Given the description of an element on the screen output the (x, y) to click on. 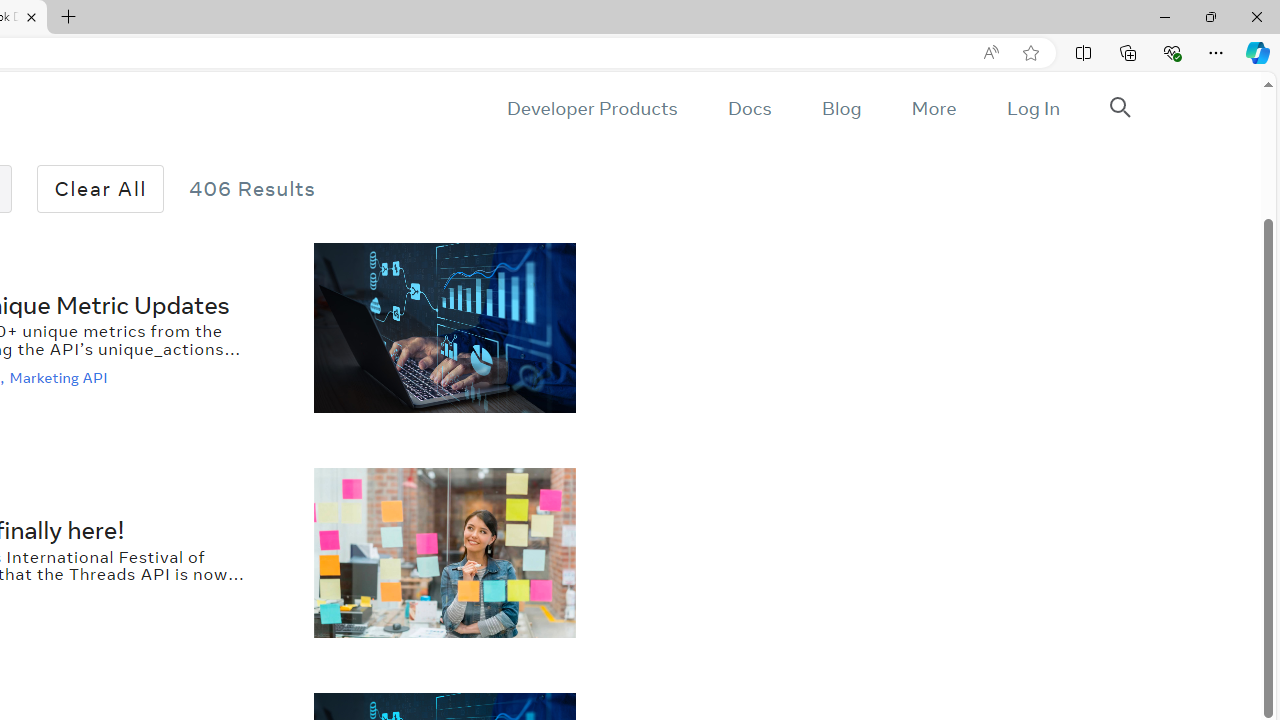
Log In (1032, 108)
Developer Products (591, 108)
Developer Products (591, 108)
Docs (749, 108)
Docs (749, 108)
Blog (841, 108)
